Given the description of an element on the screen output the (x, y) to click on. 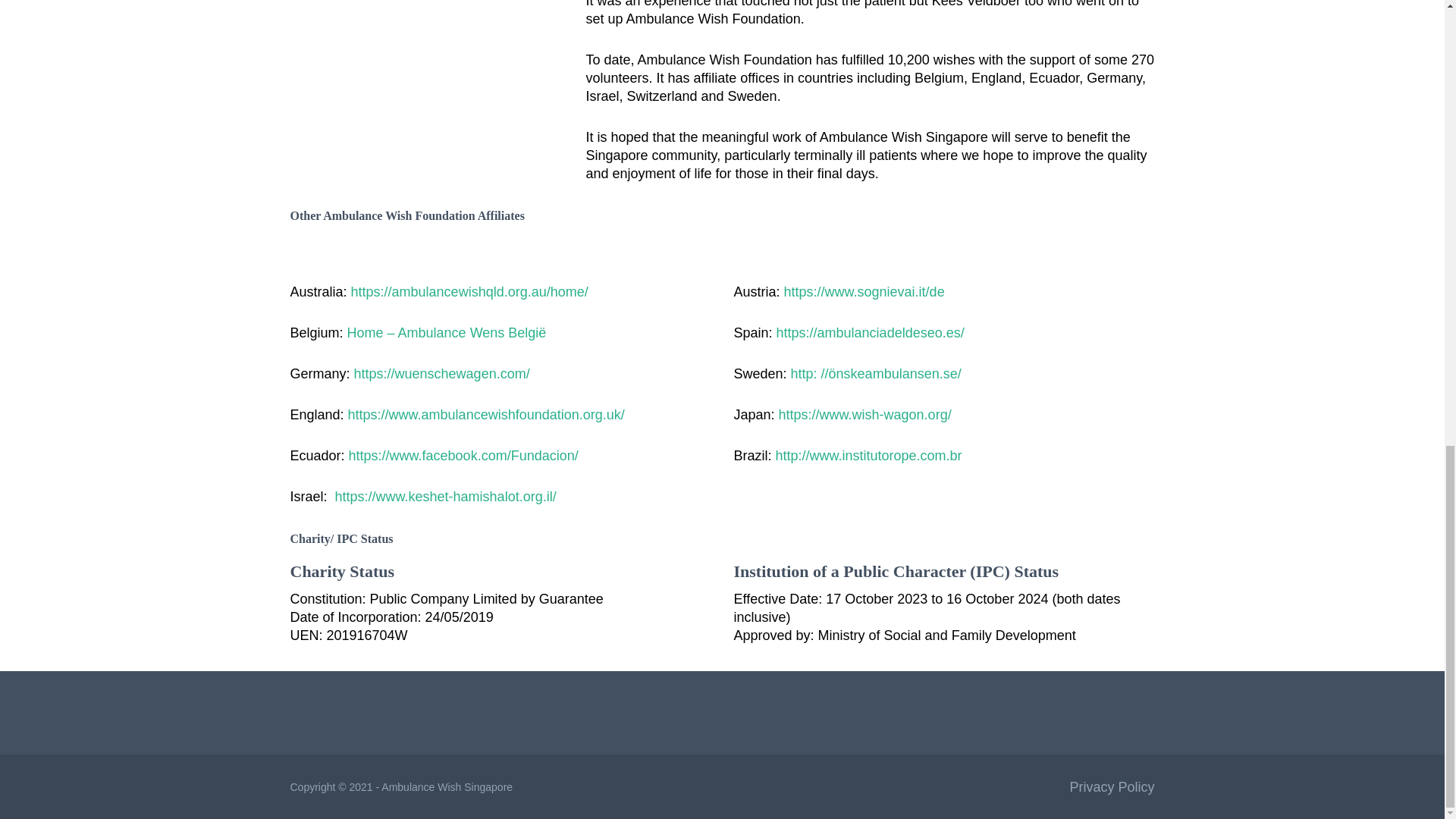
Privacy Policy (1111, 785)
